Given the description of an element on the screen output the (x, y) to click on. 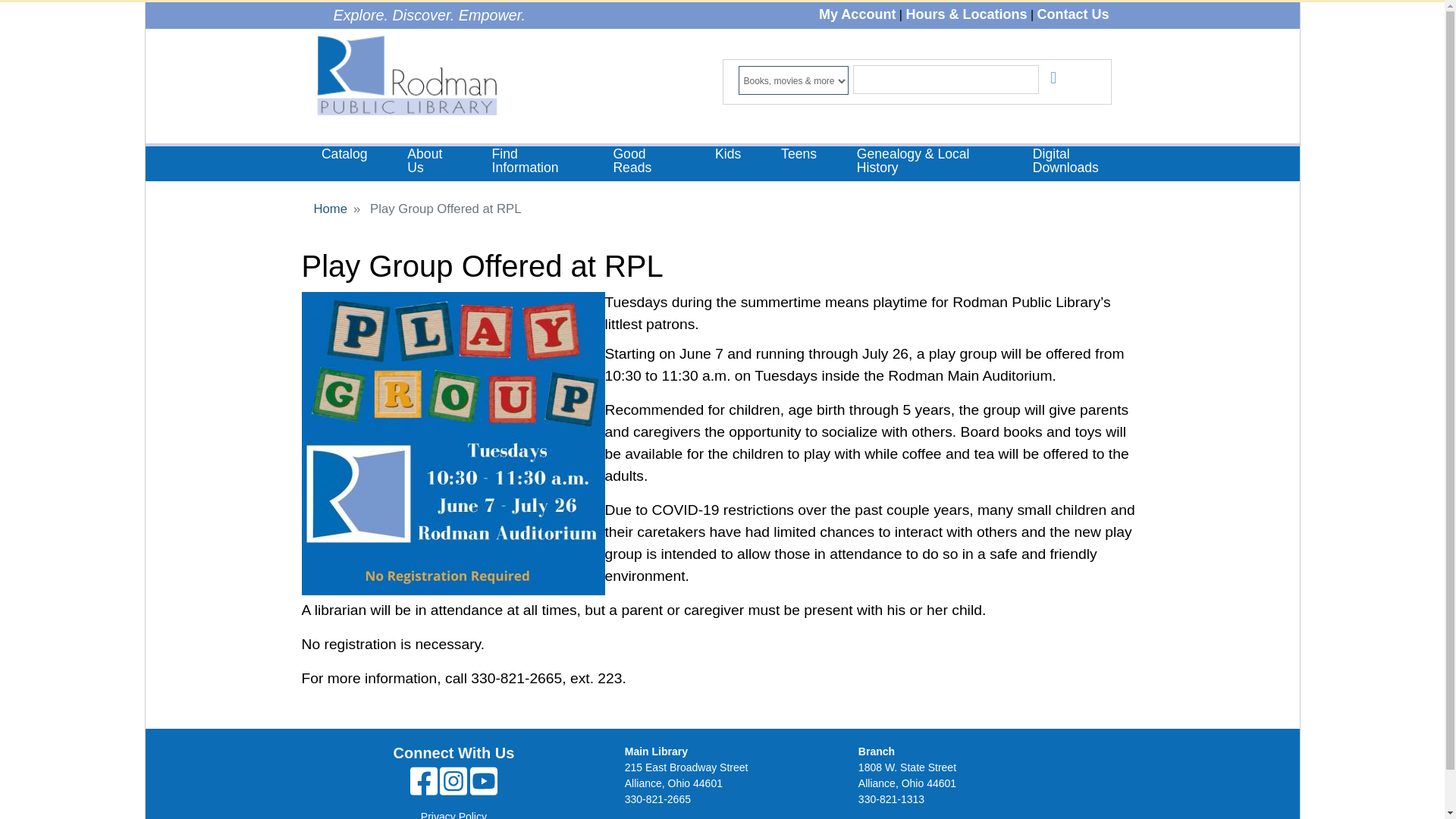
Home (405, 76)
Kids (728, 155)
Find Information (531, 161)
My Account (856, 13)
About Us (429, 161)
Catalog (344, 155)
Good Reads (643, 161)
Good Reads (643, 161)
Find Information (531, 161)
Kids (728, 155)
Skip to main content (721, 3)
Contact Us (1072, 13)
